Given the description of an element on the screen output the (x, y) to click on. 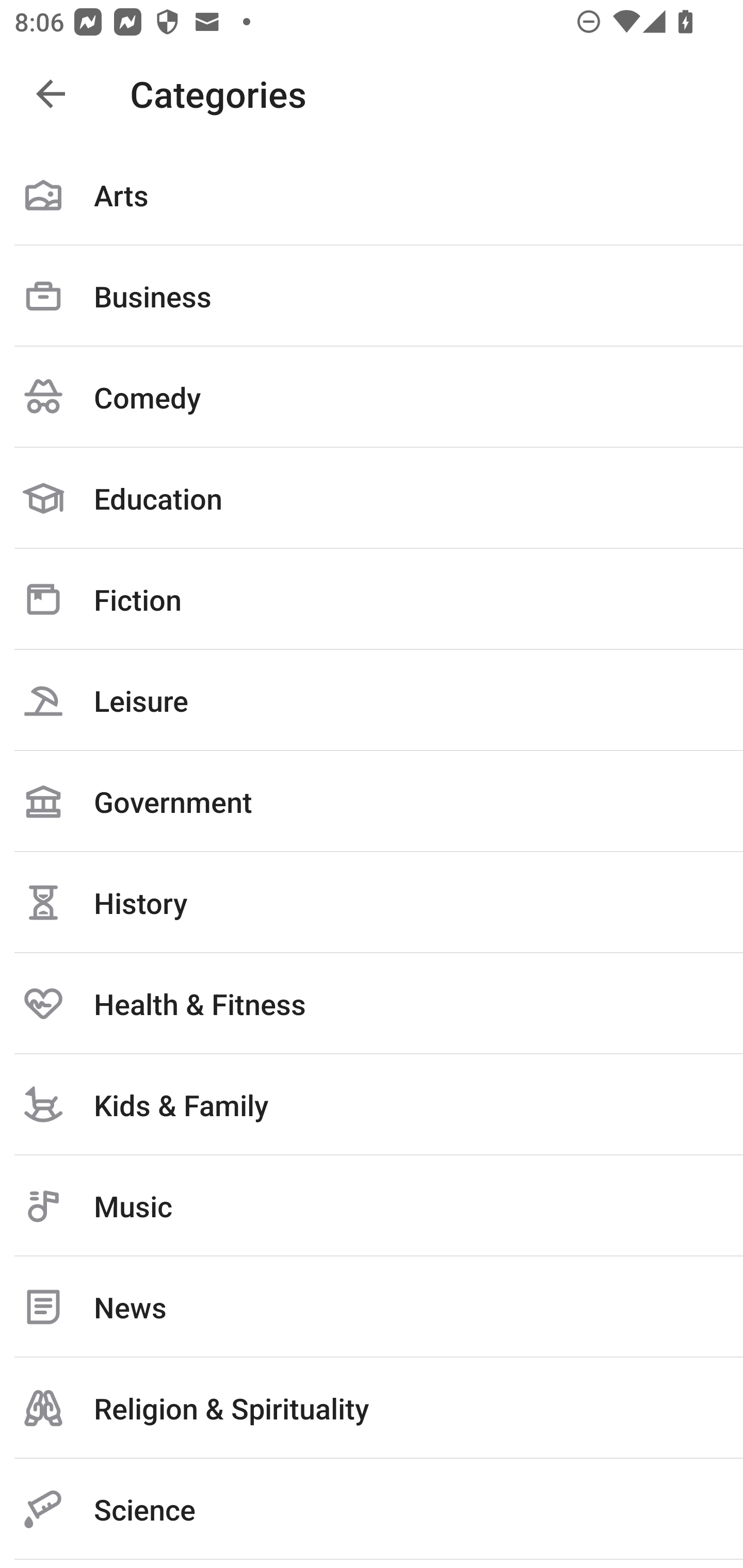
Navigate up (50, 93)
Arts (371, 195)
Business (371, 296)
Comedy (371, 397)
Education (371, 498)
Fiction (371, 598)
Leisure (371, 700)
Government (371, 801)
History (371, 902)
Health & Fitness (371, 1003)
Kids & Family (371, 1104)
Music (371, 1205)
News (371, 1306)
Religion & Spirituality (371, 1407)
Science (371, 1509)
